Given the description of an element on the screen output the (x, y) to click on. 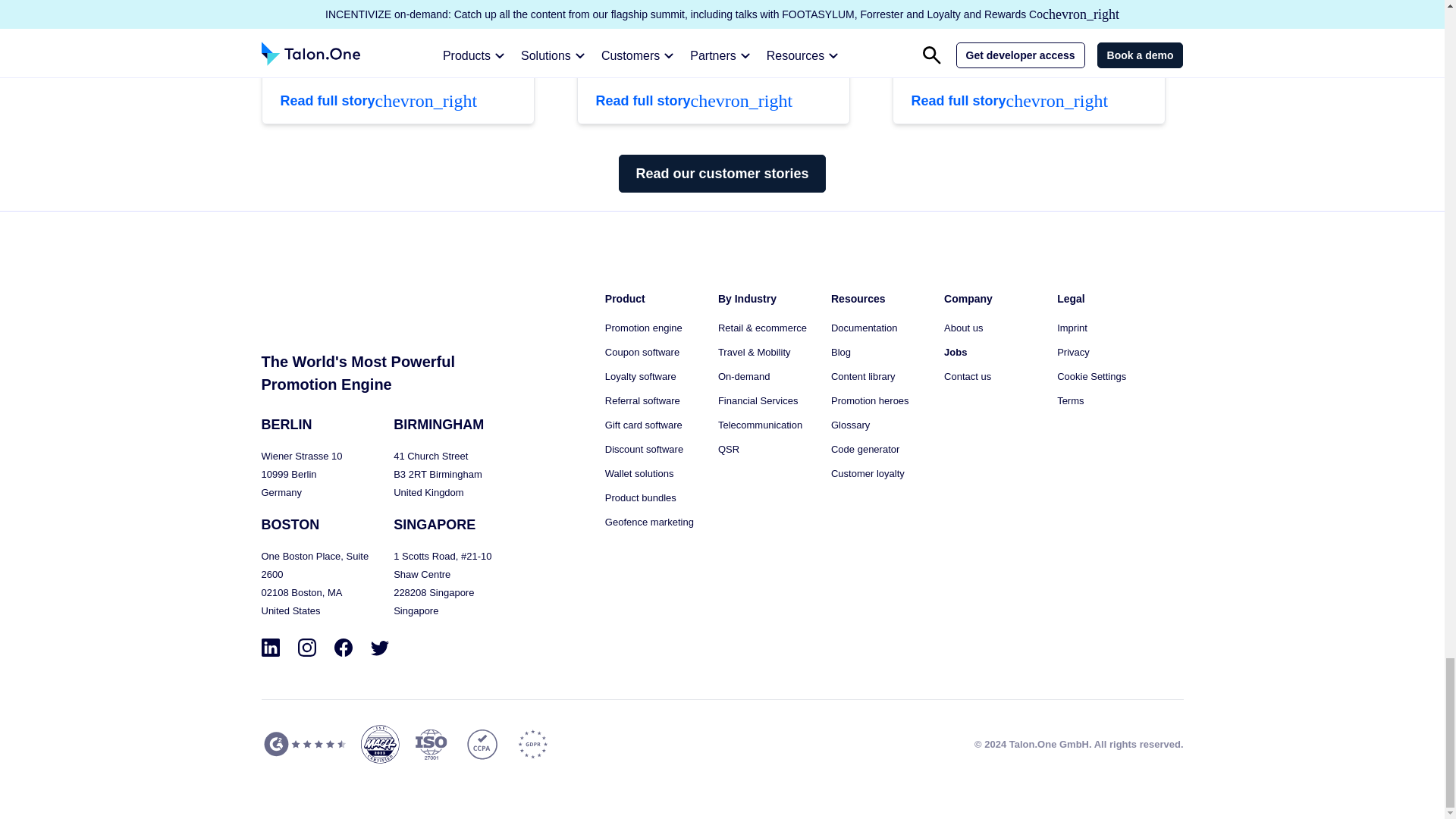
Promotion engine (643, 328)
g2 (303, 743)
Read our customer stories (721, 173)
Mach Alliance (379, 743)
ISO 27001 Logo (429, 744)
Talon.One Company Logo (309, 305)
GDPR Logo (531, 743)
CCPA Logo (481, 743)
